Given the description of an element on the screen output the (x, y) to click on. 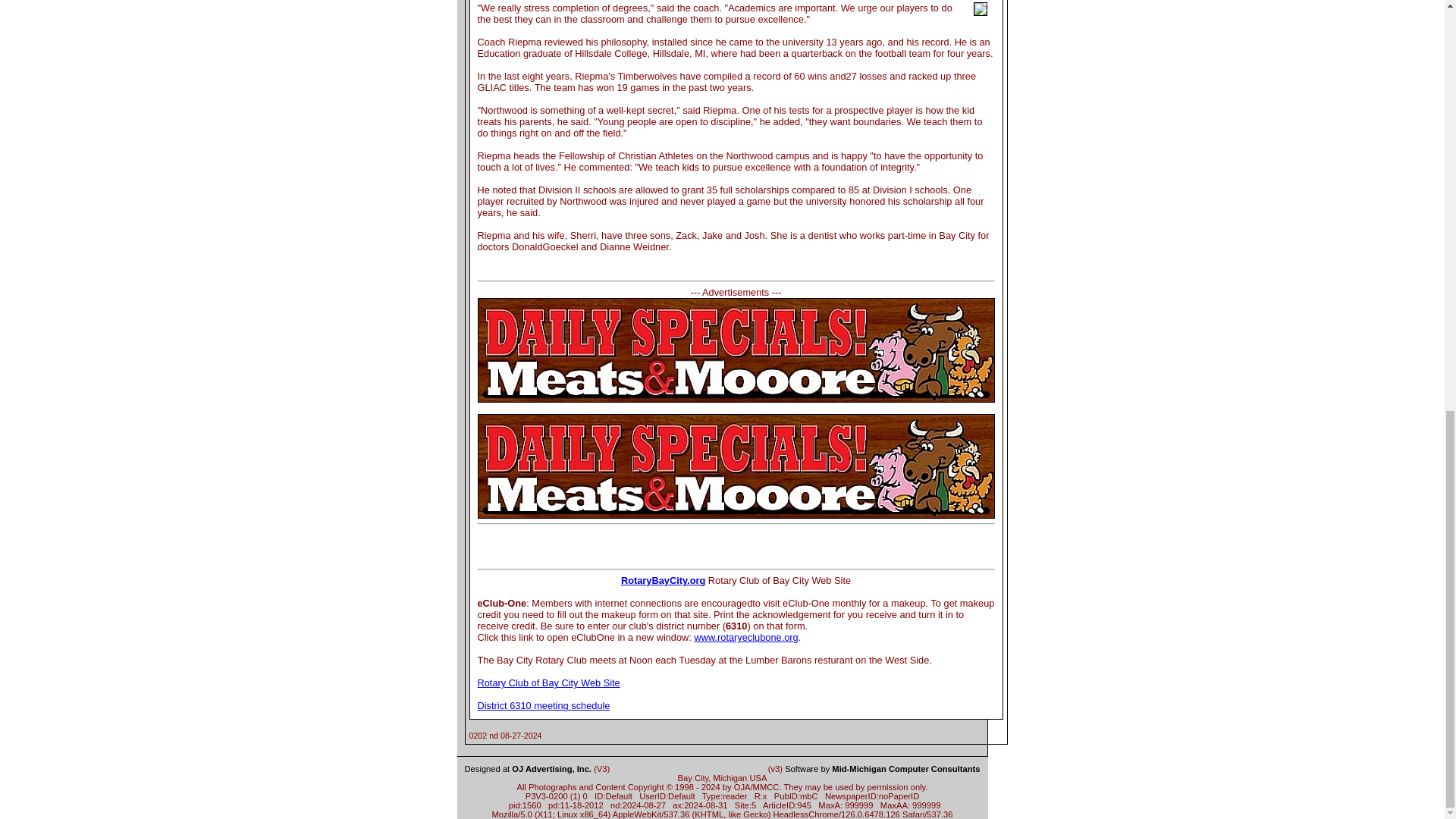
Rotary Club of Bay City Web Site (548, 682)
www.rotaryeclubone.org (745, 636)
District 6310 meeting schedule (543, 705)
Software by Mid-Michigan Computer Consultants (881, 768)
Designed at OJ Advertising, Inc. (527, 768)
RotaryBayCity.org (662, 580)
